Given the description of an element on the screen output the (x, y) to click on. 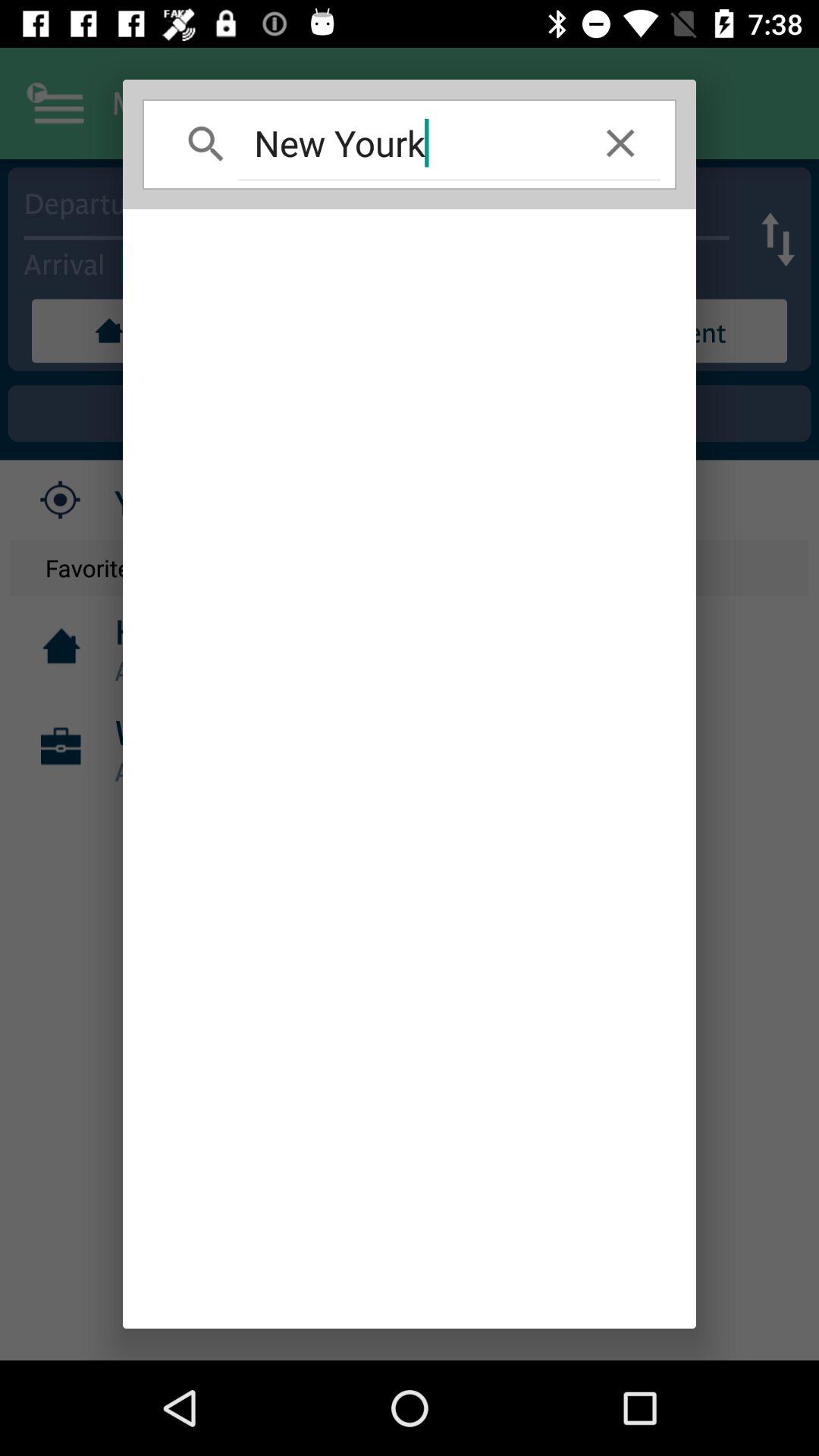
open icon at the top (409, 143)
